Given the description of an element on the screen output the (x, y) to click on. 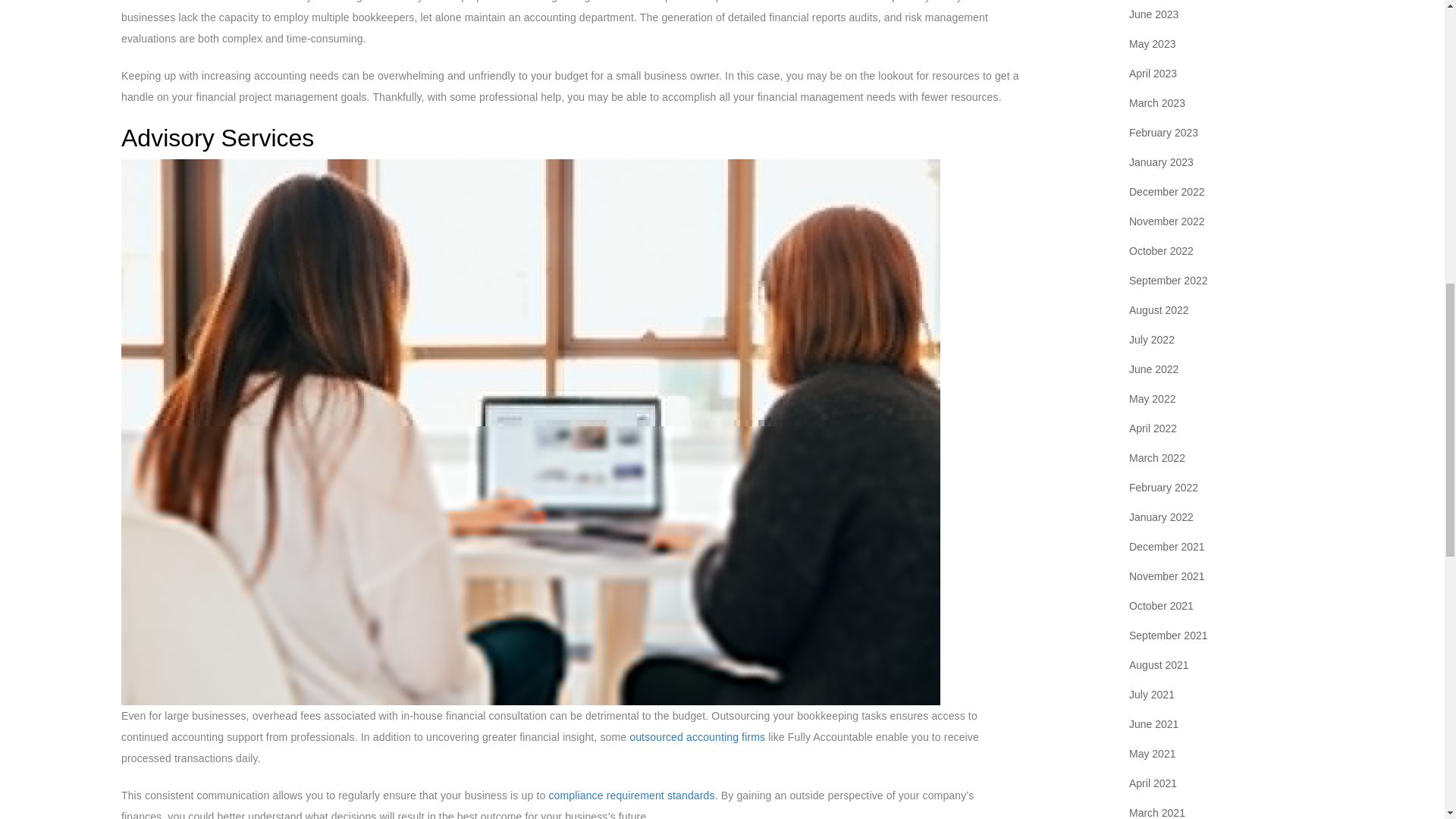
outsourced accounting firms (696, 736)
compliance requirement standards (631, 795)
